Given the description of an element on the screen output the (x, y) to click on. 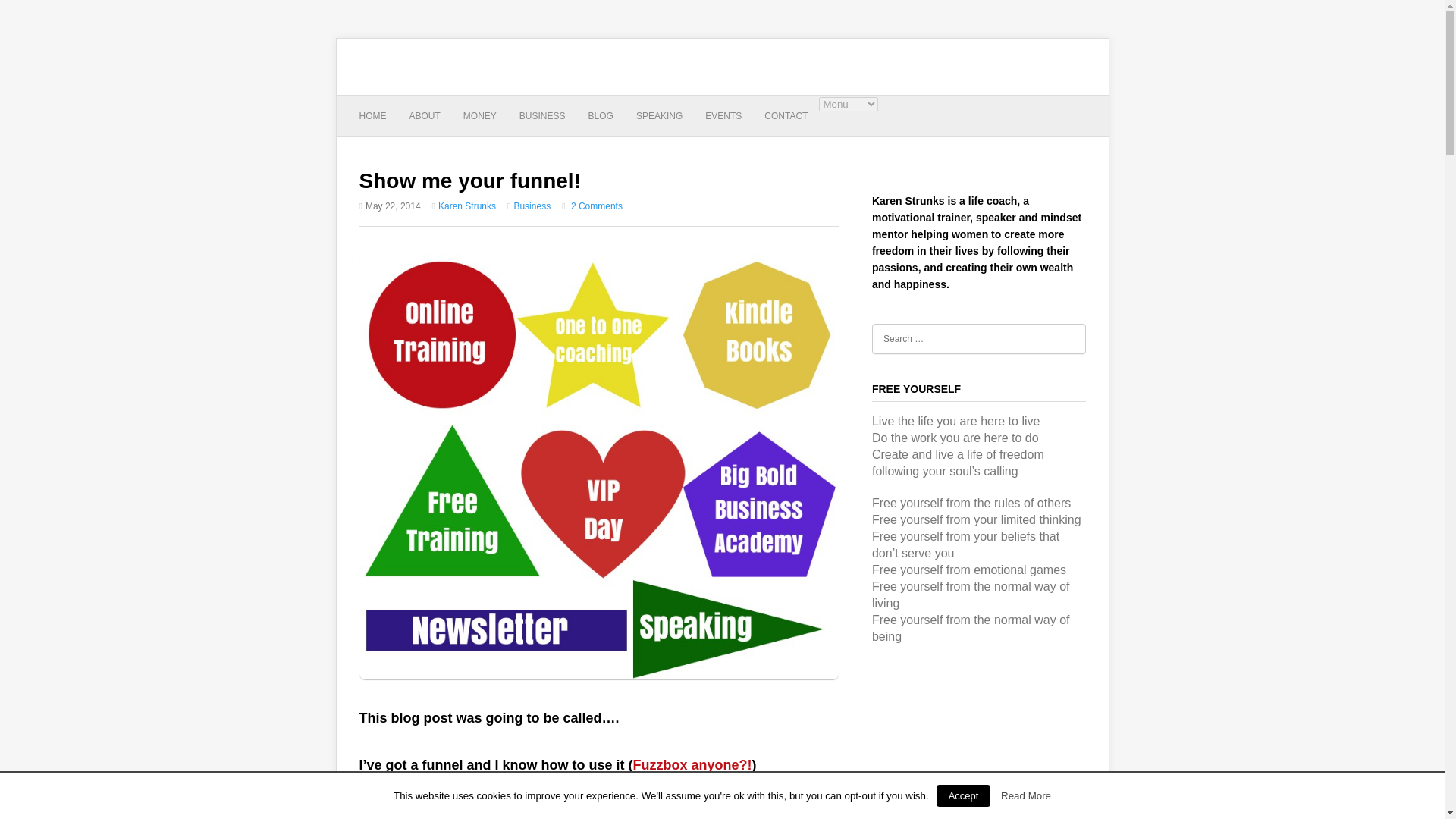
Karen Strunks (467, 205)
Accept (963, 795)
2 Comments (596, 205)
Fuzzbox anyone?! (692, 765)
SPEAKING (659, 116)
Read More (1026, 795)
Business (531, 205)
BUSINESS (542, 116)
Posts by Karen Strunks (467, 205)
